Given the description of an element on the screen output the (x, y) to click on. 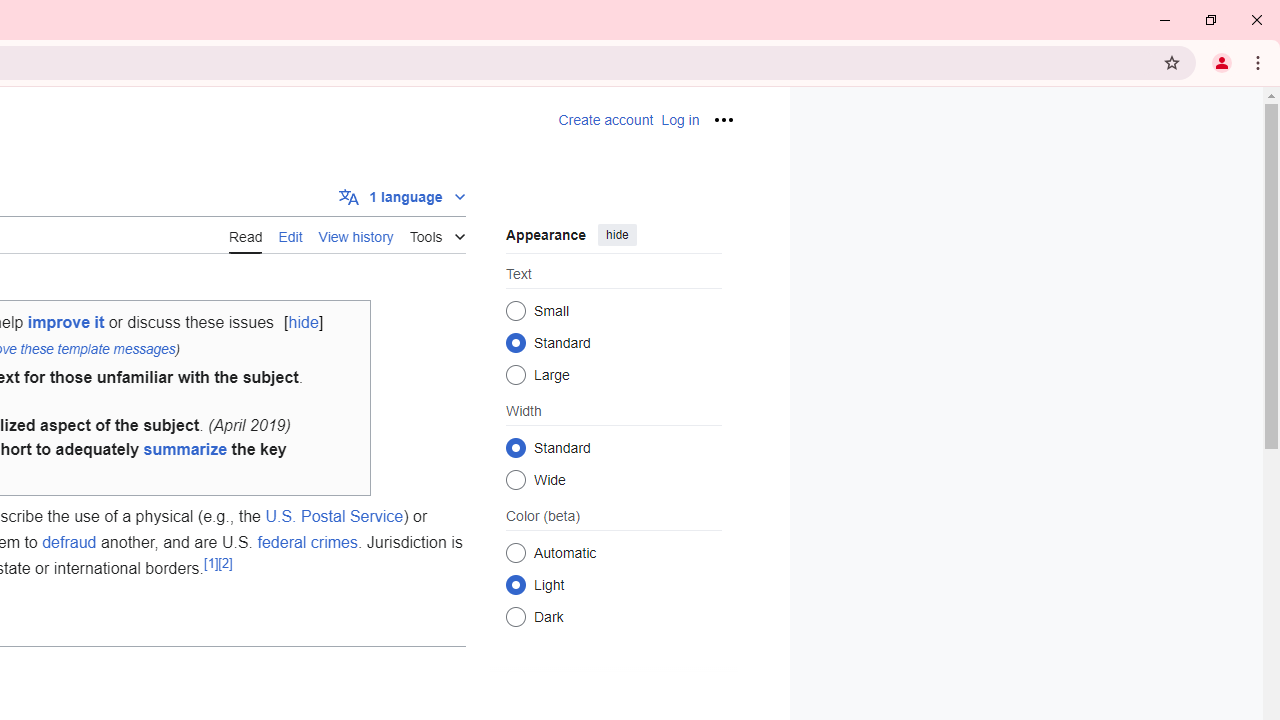
hide (616, 234)
defraud (69, 541)
Automatic (515, 552)
Log in (680, 120)
[1] (210, 562)
Personal tools (722, 119)
AutomationID: ca-edit (290, 234)
Wide (515, 479)
improve it (65, 322)
AutomationID: ca-history (355, 234)
